Given the description of an element on the screen output the (x, y) to click on. 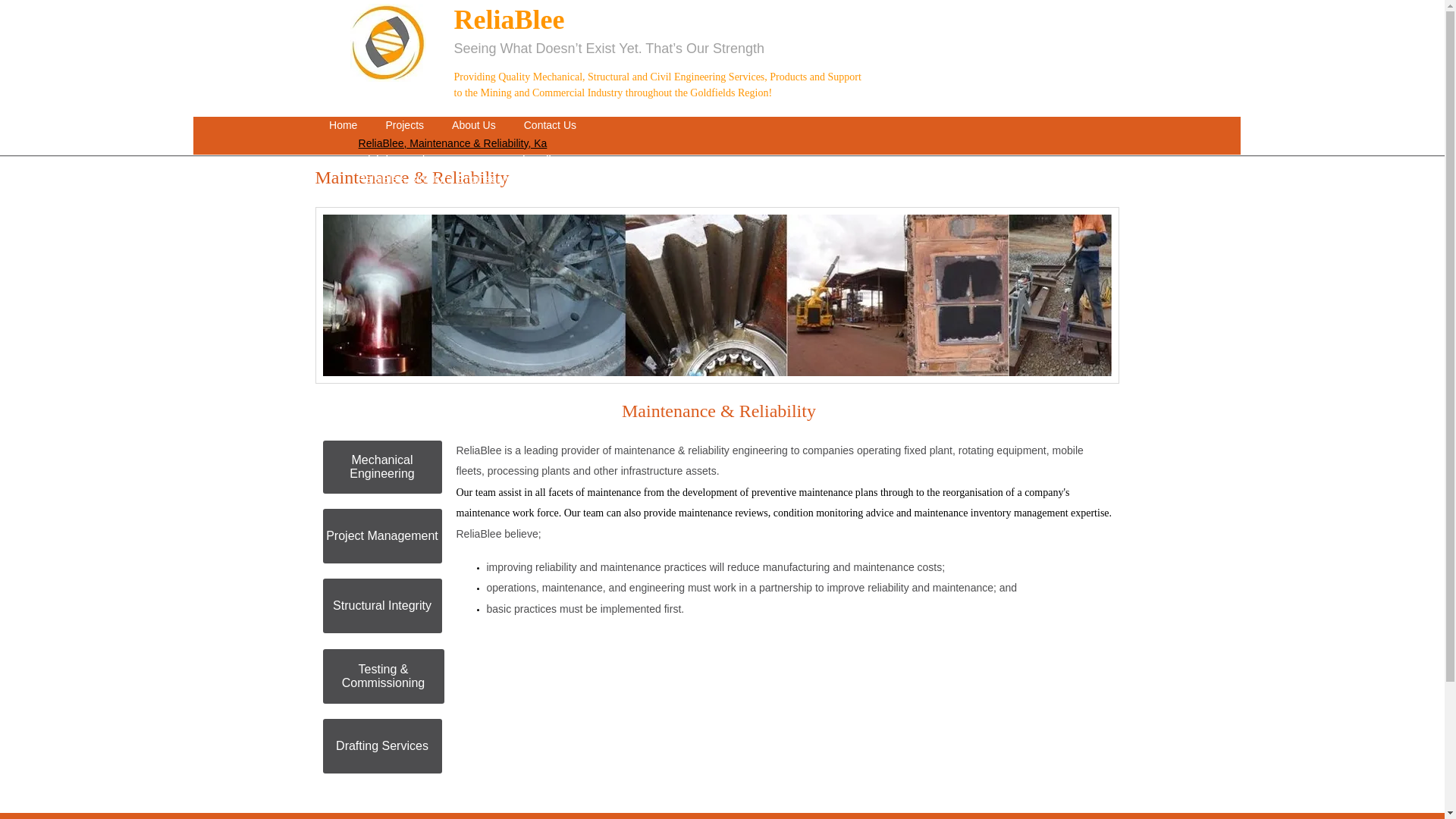
RelaiBlee, Mechanical Engineering, Kalgo (453, 199)
Drafting Services (382, 746)
Mechanical Engineering (382, 466)
Home (343, 125)
Project Management (382, 535)
About Us (474, 125)
RelaiBlee, Project Management, Kalgoorli (453, 160)
Structural Integrity (382, 605)
Contact Us (549, 125)
RelaiBlee, Structural Engineering, Kalgo (453, 179)
Projects (404, 125)
